Given the description of an element on the screen output the (x, y) to click on. 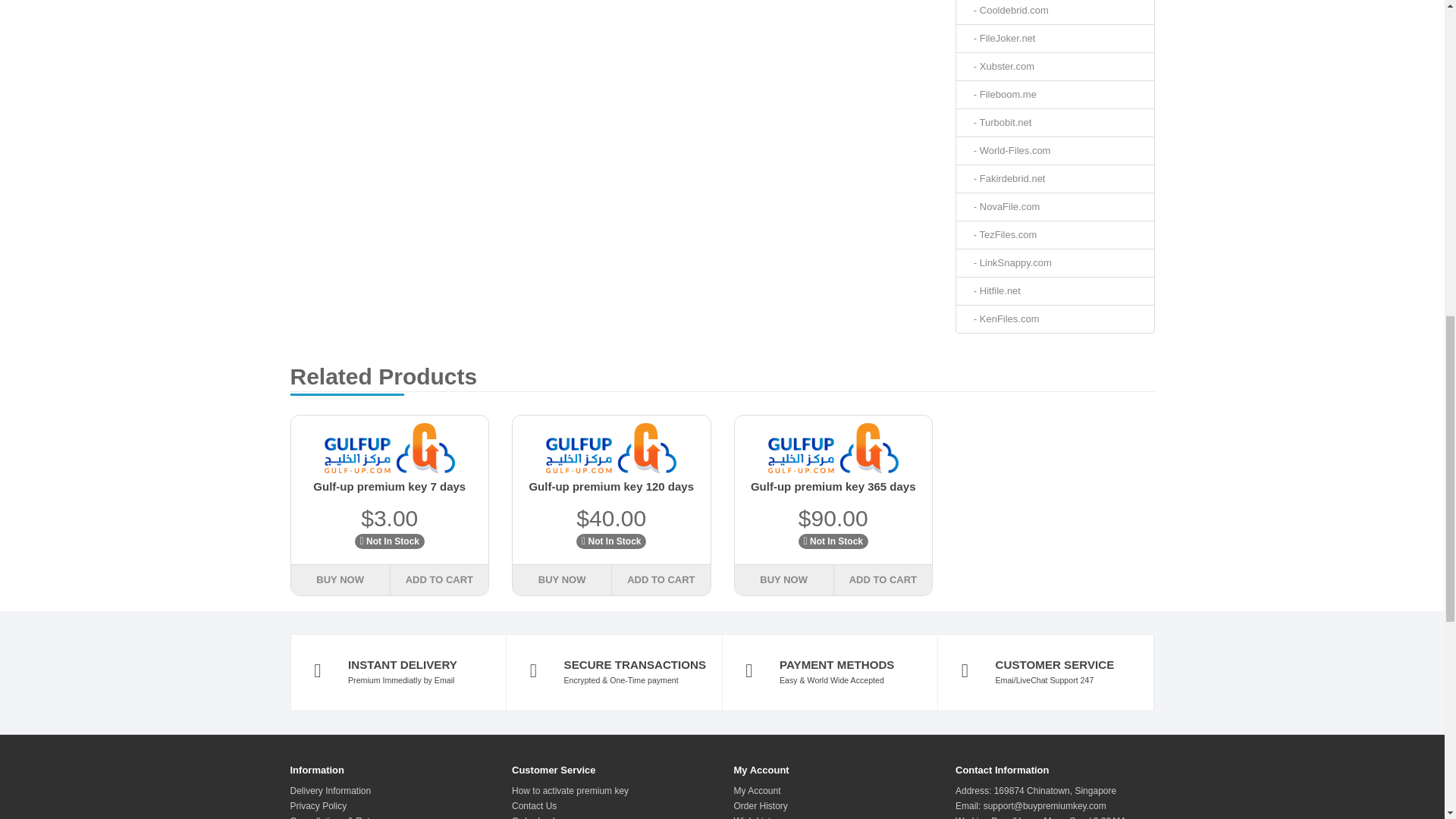
Gulf-up premium key 7 days (389, 448)
Gulf-up premium key 365 days (833, 448)
Gulf-up premium key 120 days (611, 448)
